Given the description of an element on the screen output the (x, y) to click on. 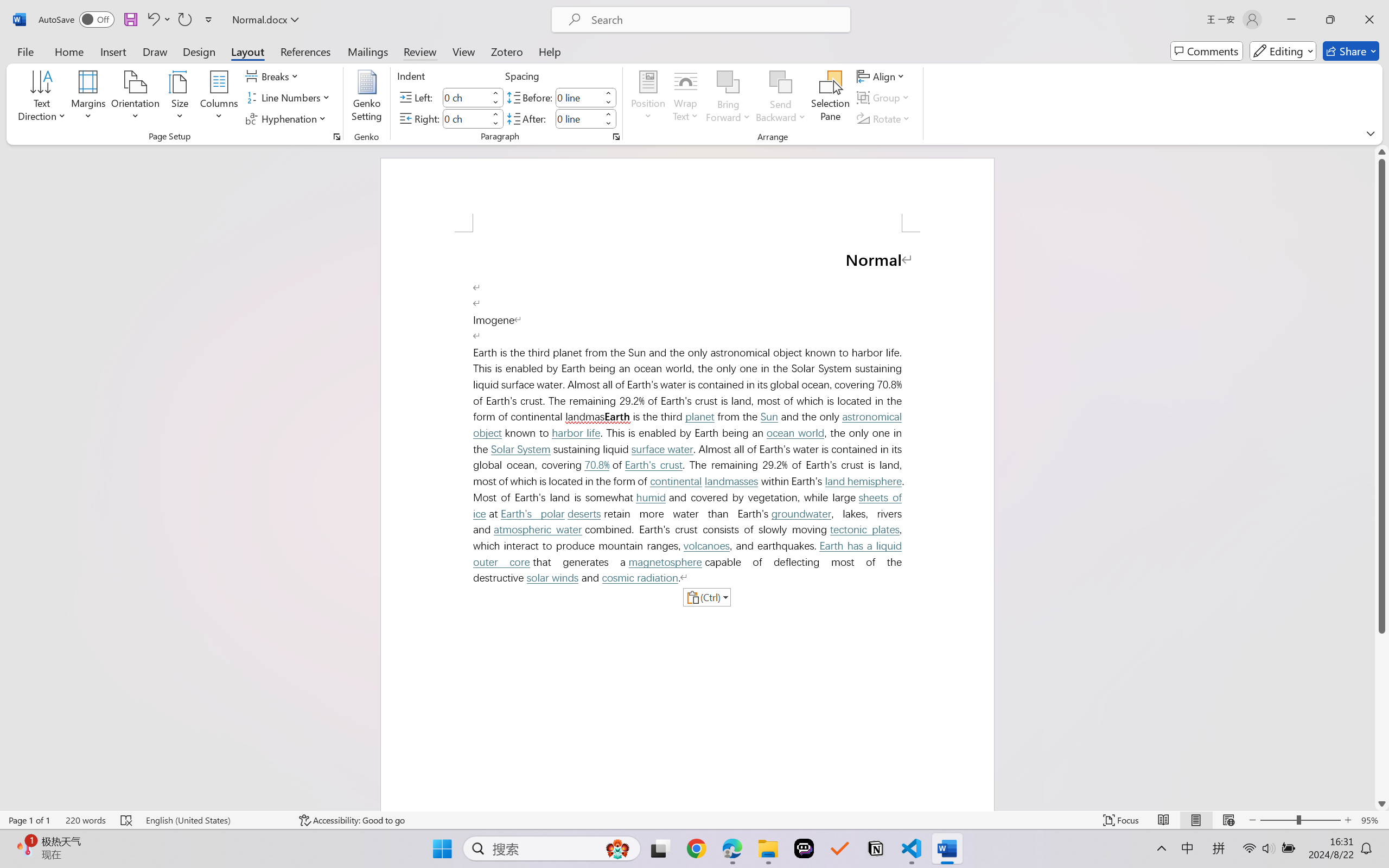
Send Backward (781, 81)
Line Numbers (289, 97)
landmasses (731, 480)
Class: MsoCommandBar (694, 819)
Breaks (273, 75)
continental (675, 480)
Spelling and Grammar Check Errors (126, 819)
Class: NetUIScrollBar (1382, 477)
Undo Paste Destination Formatting (158, 19)
